Given the description of an element on the screen output the (x, y) to click on. 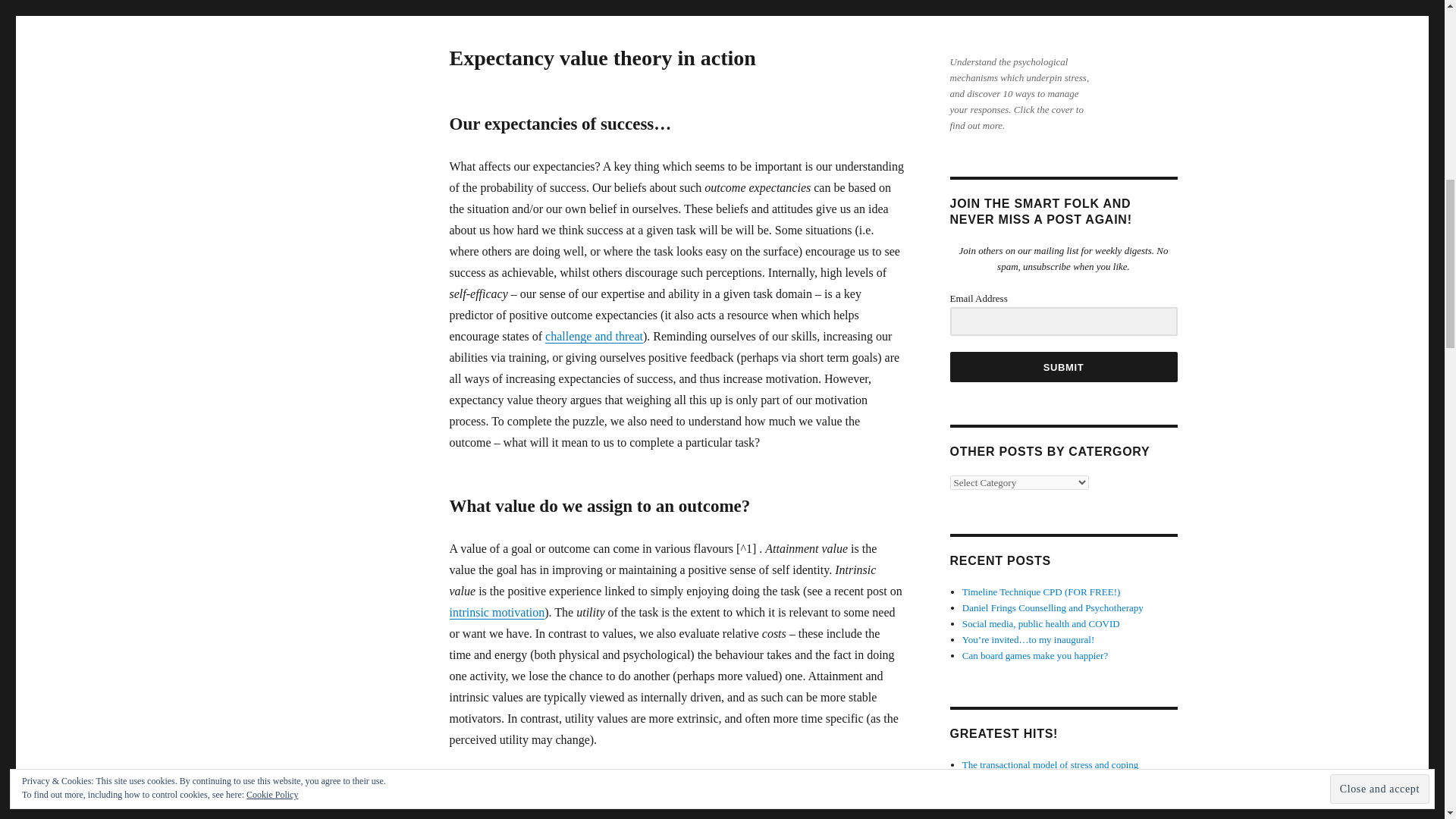
challenge and threat (593, 336)
The Psychology of.... Holidays! (1024, 812)
Social media, public health and COVID (1040, 623)
aligncenter (1021, 24)
The psychology of magic in childhood (1038, 796)
SUBMIT (1062, 367)
intrinsic motivation (674, 622)
Daniel Frings Counselling and Psychotherapy (1052, 607)
The transactional model of stress and coping (1050, 764)
Is it time for a Nobel prize in Psychology? (1045, 780)
Can board games make you happier? (1035, 655)
